Given the description of an element on the screen output the (x, y) to click on. 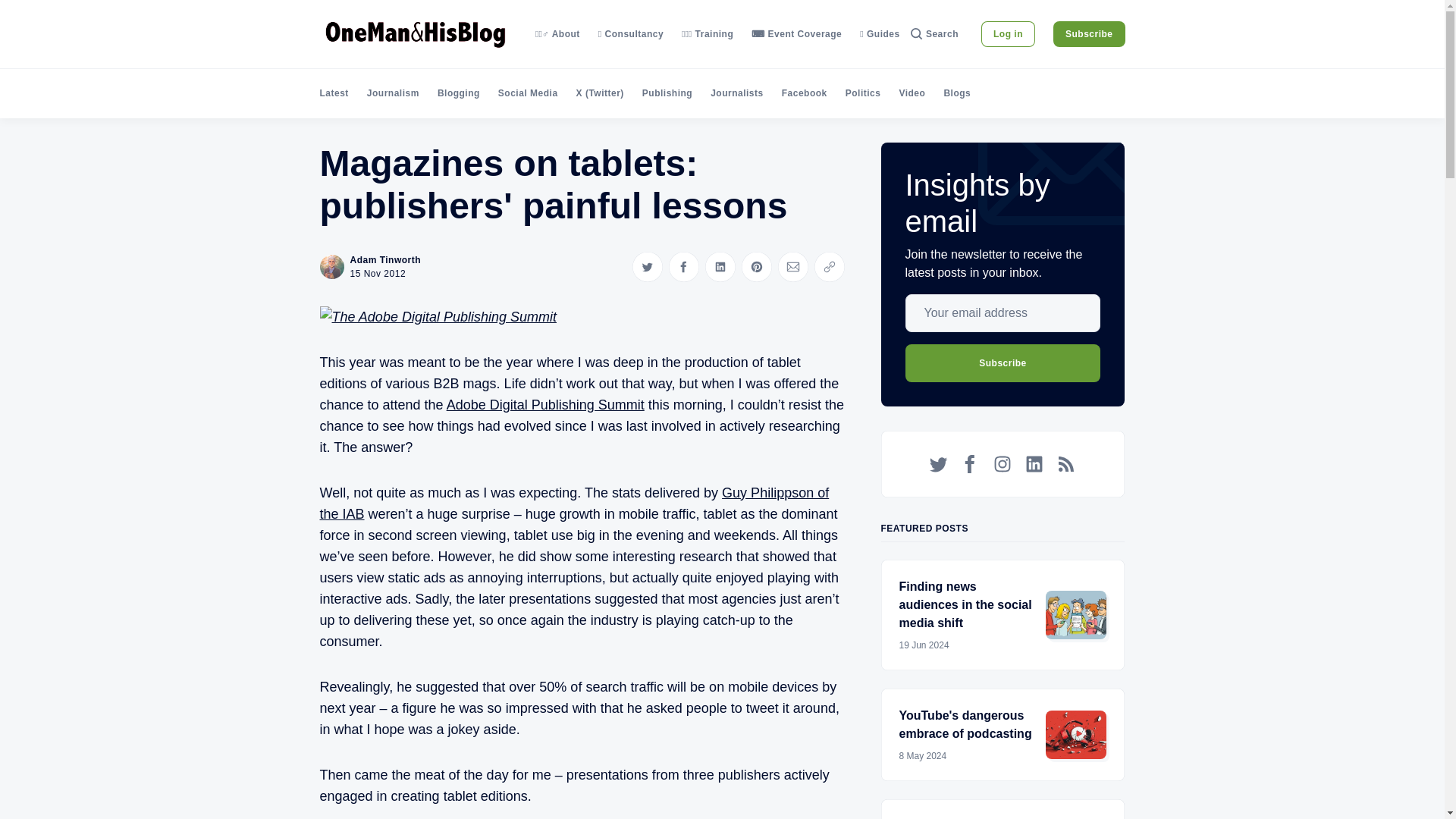
Share on LinkedIn (719, 266)
Copy link (828, 266)
Social Media (527, 92)
Search (933, 33)
Facebook (804, 92)
Publishing (667, 92)
Subscribe (1088, 33)
Journalism (392, 92)
Adam Tinworth (386, 259)
Guy Philippson of the IAB (574, 503)
Adobe Digital Publishing Summit (545, 404)
Journalists (736, 92)
Log in (1008, 33)
Share on Pinterest (756, 266)
Share via Email (792, 266)
